Given the description of an element on the screen output the (x, y) to click on. 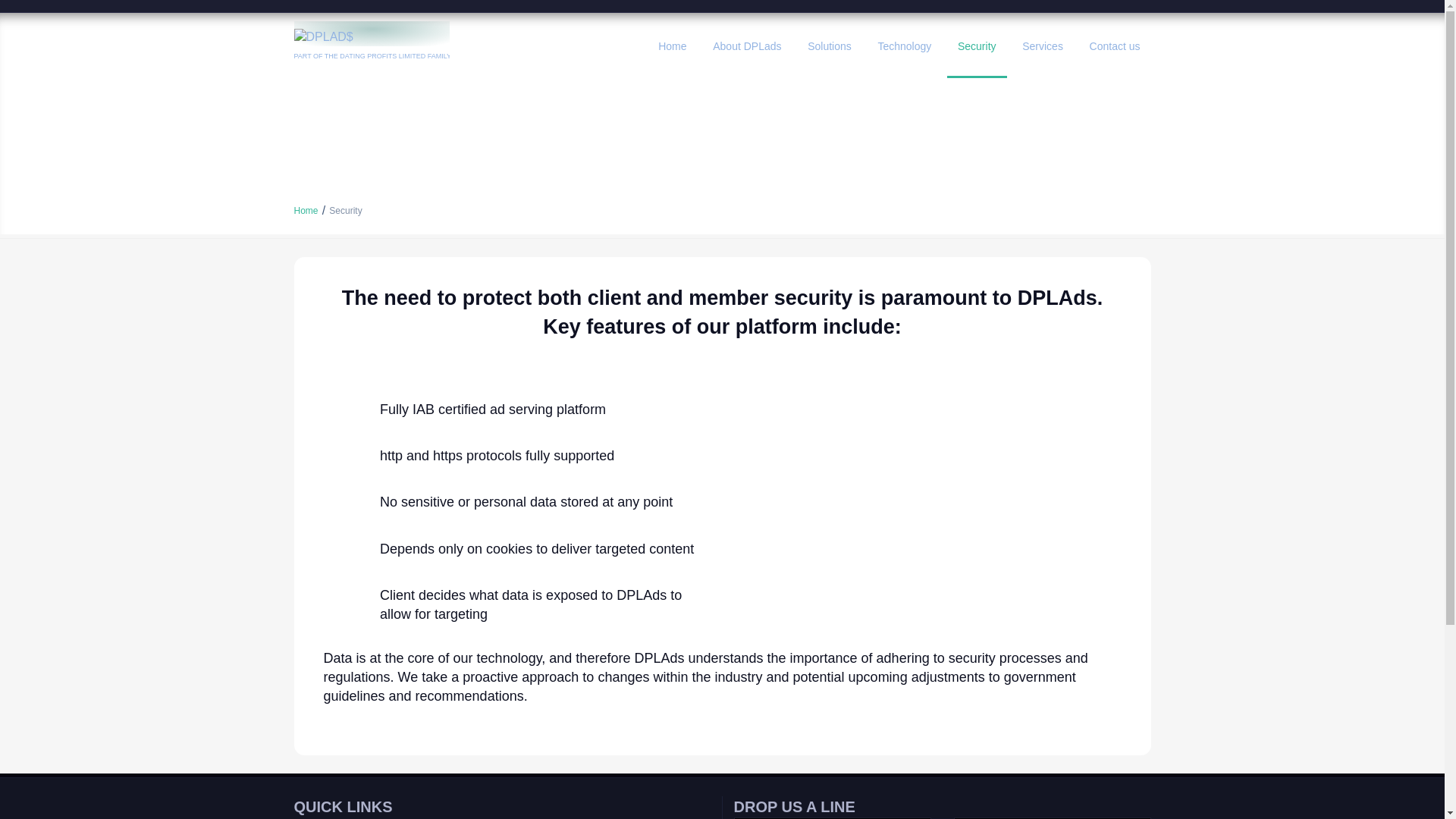
About DPLads (746, 45)
Security (977, 45)
PART OF THE DATING PROFITS LIMITED FAMILY (372, 45)
Security (345, 210)
Home (306, 210)
Contact us (1114, 45)
Technology (904, 45)
Services (1042, 45)
Solutions (828, 45)
